Given the description of an element on the screen output the (x, y) to click on. 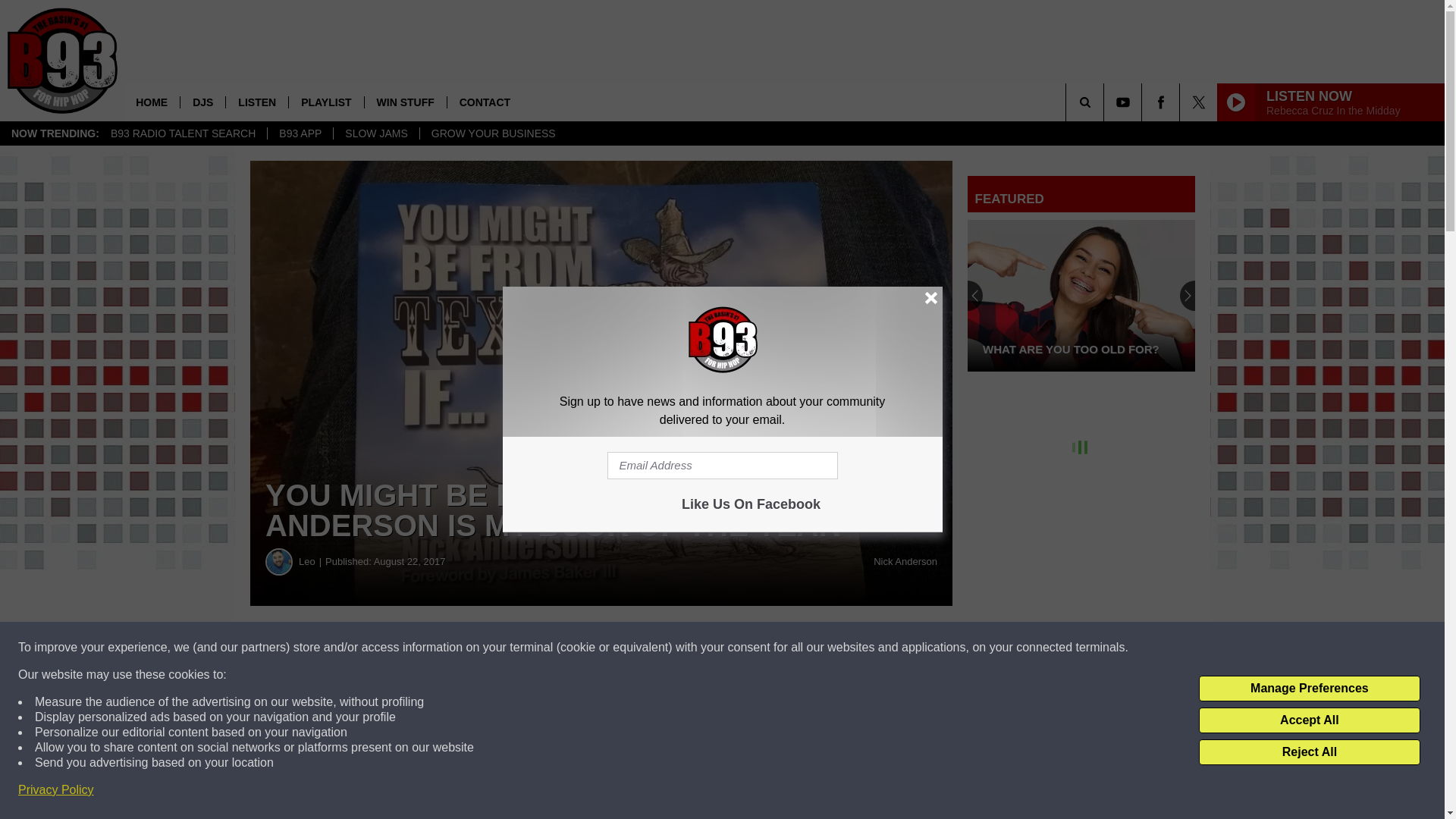
GROW YOUR BUSINESS (493, 133)
Accept All (1309, 720)
PLAYLIST (325, 102)
Reject All (1309, 751)
HOME (151, 102)
Privacy Policy (55, 789)
DJS (202, 102)
Email Address (722, 465)
SEARCH (1106, 102)
B93 RADIO TALENT SEARCH (182, 133)
WIN STUFF (405, 102)
SEARCH (1106, 102)
Manage Preferences (1309, 688)
LISTEN (256, 102)
B93 APP (299, 133)
